Given the description of an element on the screen output the (x, y) to click on. 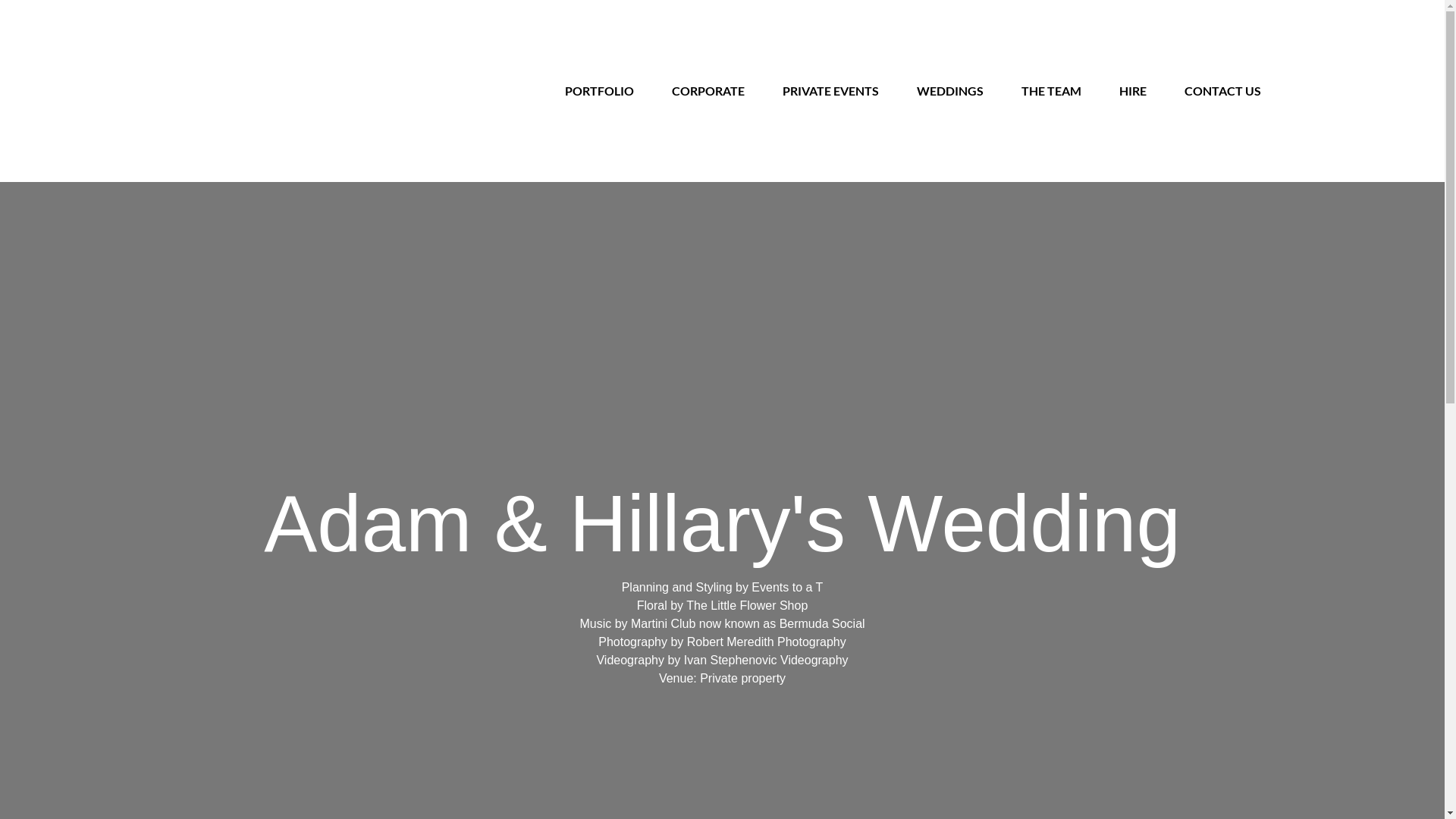
CORPORATE Element type: text (707, 90)
WEDDINGS Element type: text (949, 90)
CONTACT US Element type: text (1222, 90)
THE TEAM Element type: text (1050, 90)
PRIVATE EVENTS Element type: text (830, 90)
PORTFOLIO Element type: text (598, 90)
HIRE Element type: text (1132, 90)
